Given the description of an element on the screen output the (x, y) to click on. 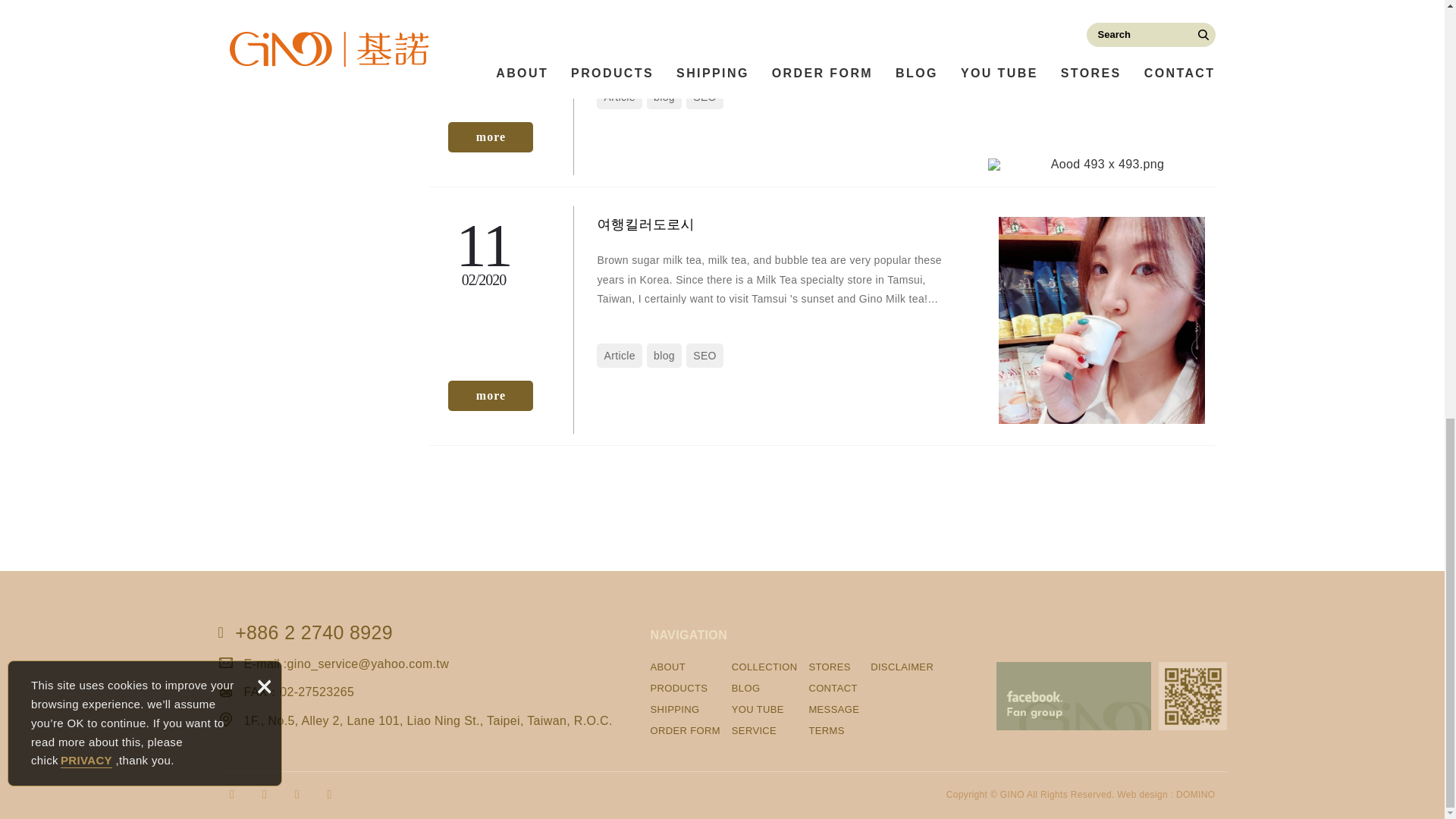
Aood 493 x 493.png (1100, 164)
AOOD (490, 137)
